Given the description of an element on the screen output the (x, y) to click on. 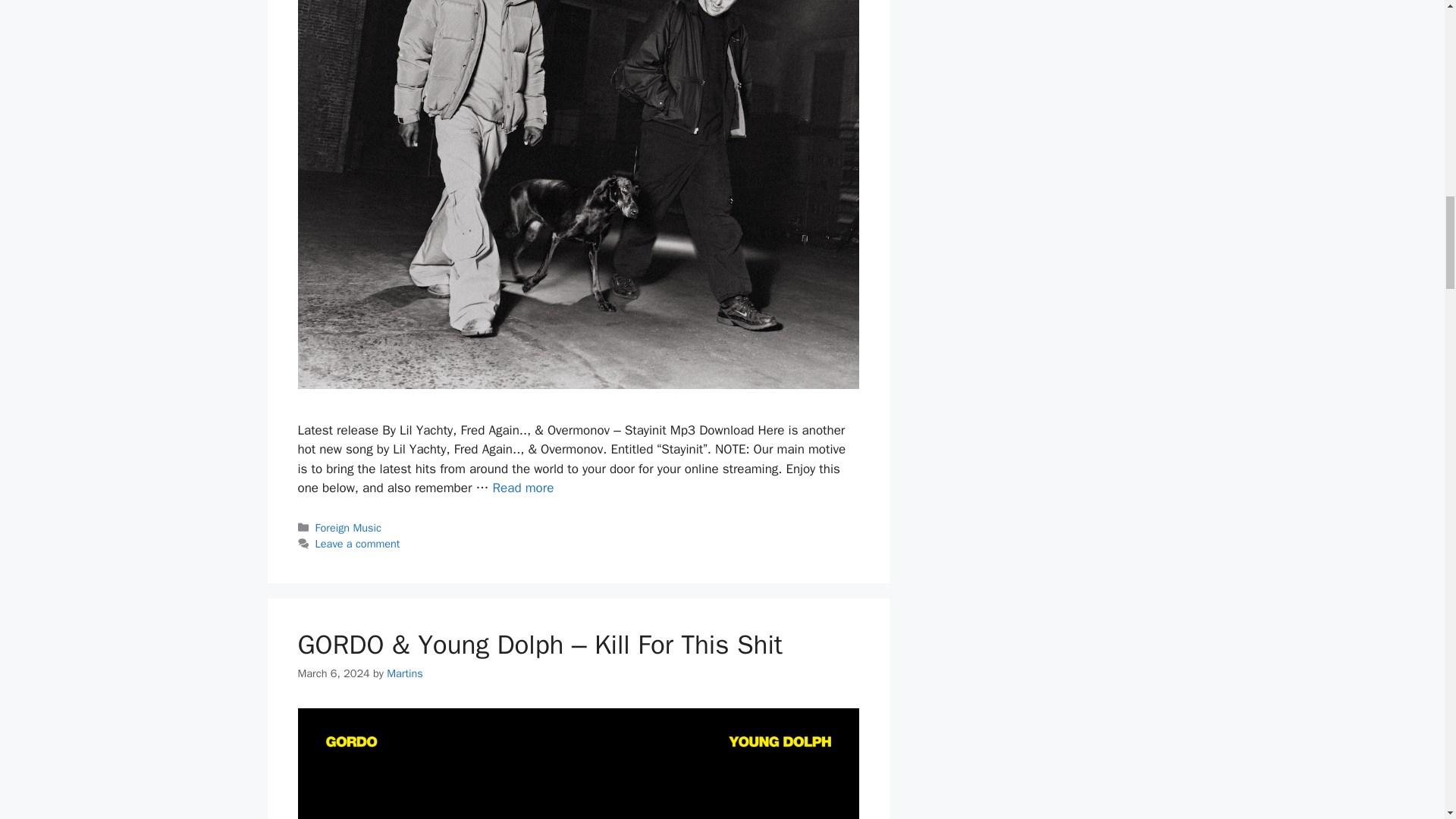
Martins (405, 673)
Foreign Music (348, 527)
View all posts by Martins (405, 673)
Leave a comment (357, 543)
Read more (523, 487)
